Given the description of an element on the screen output the (x, y) to click on. 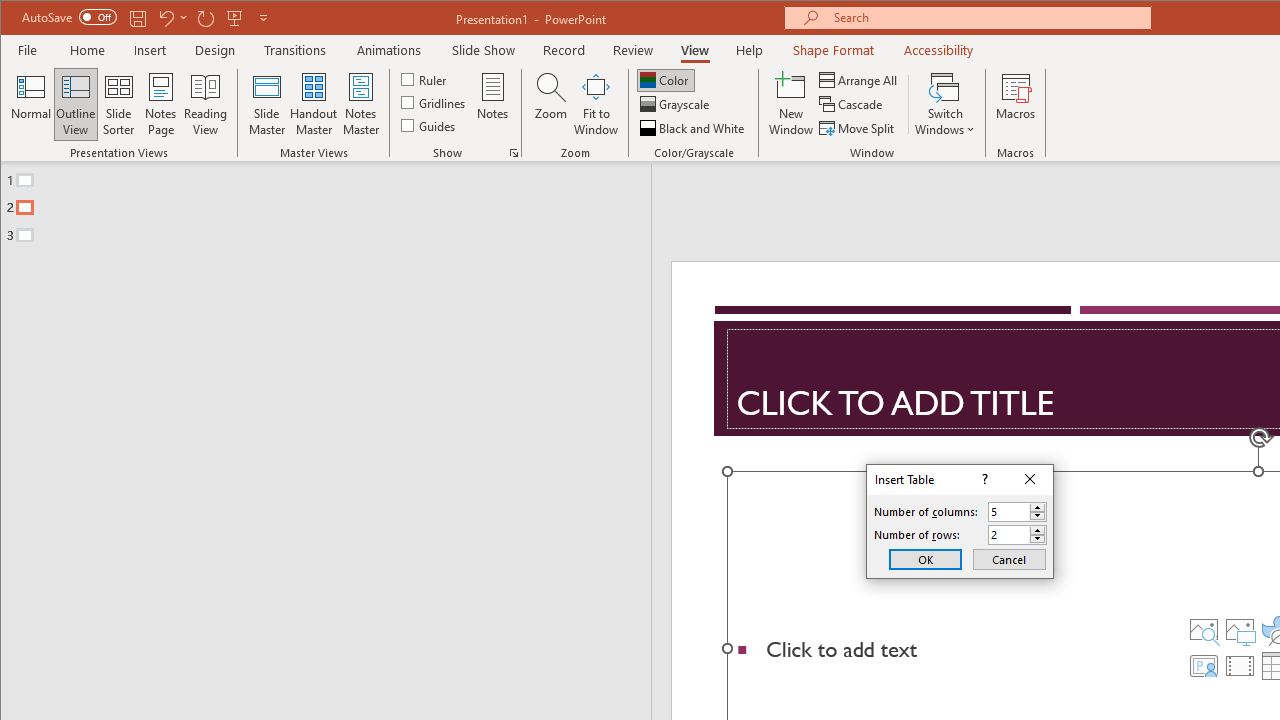
Cascade (852, 103)
Notes (493, 104)
Grid Settings... (513, 152)
Handout Master (314, 104)
Guides (430, 124)
Fit to Window (596, 104)
Color (666, 80)
